Given the description of an element on the screen output the (x, y) to click on. 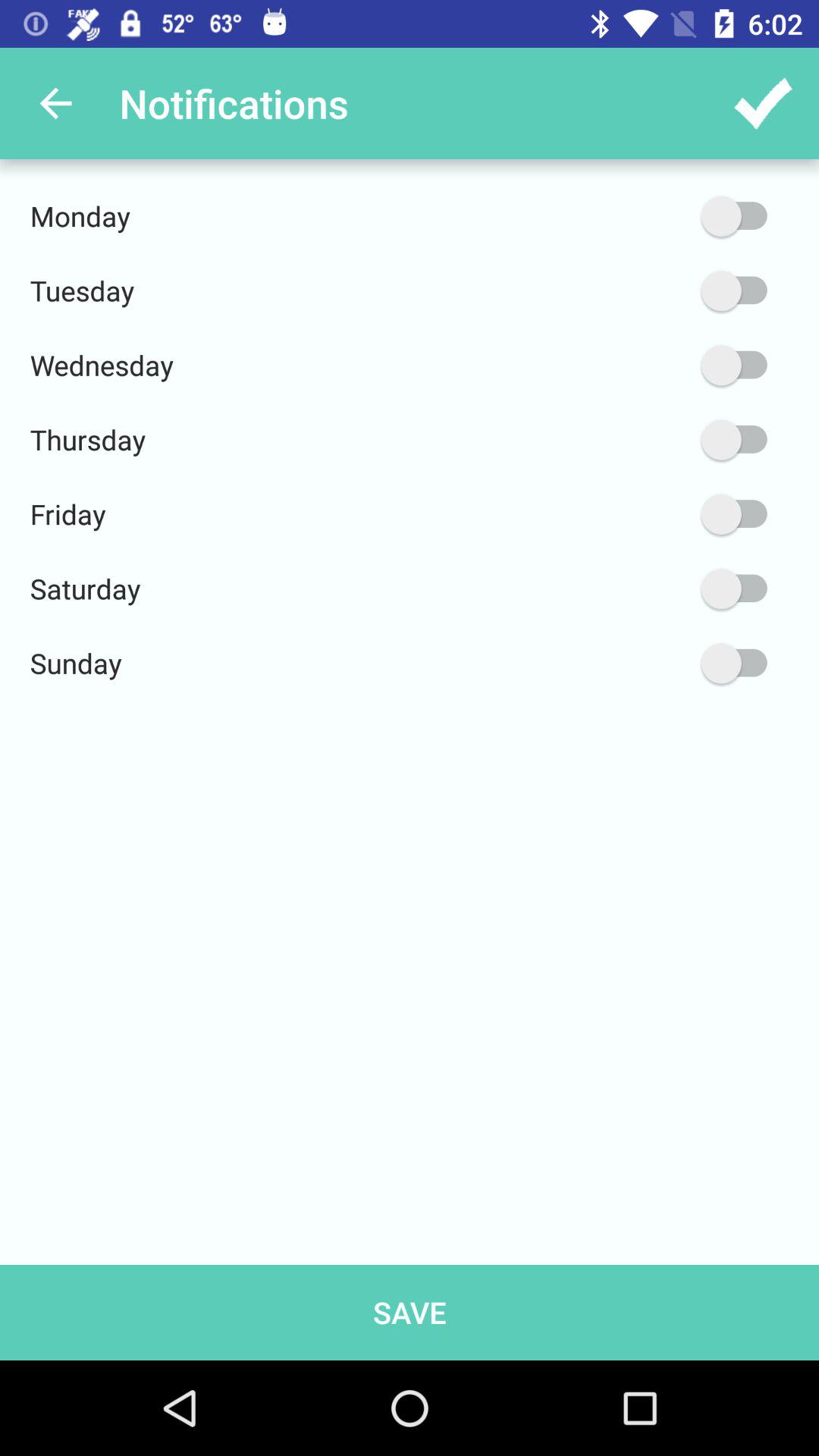
turn off icon to the right of the tuesday icon (661, 290)
